Given the description of an element on the screen output the (x, y) to click on. 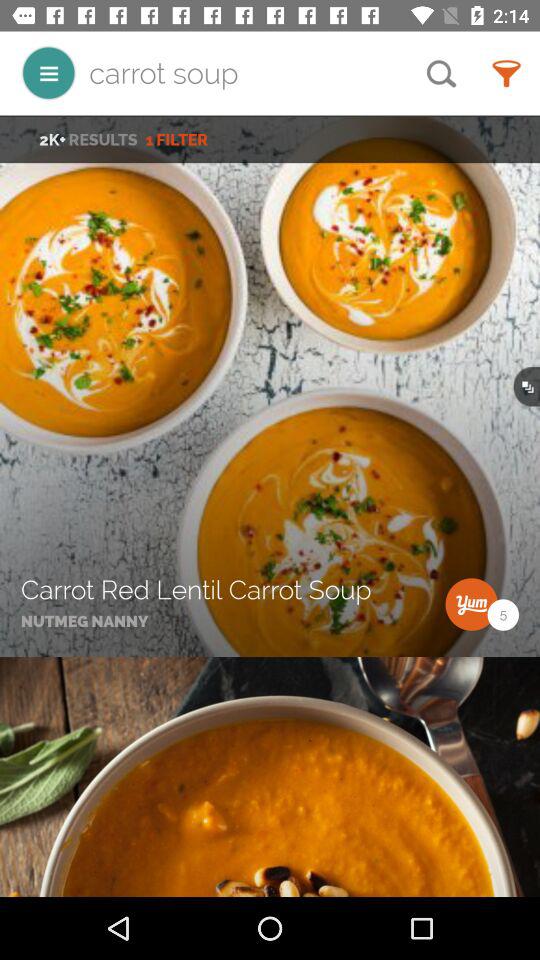
turn off the icon to the right of the carrot soup icon (441, 73)
